Given the description of an element on the screen output the (x, y) to click on. 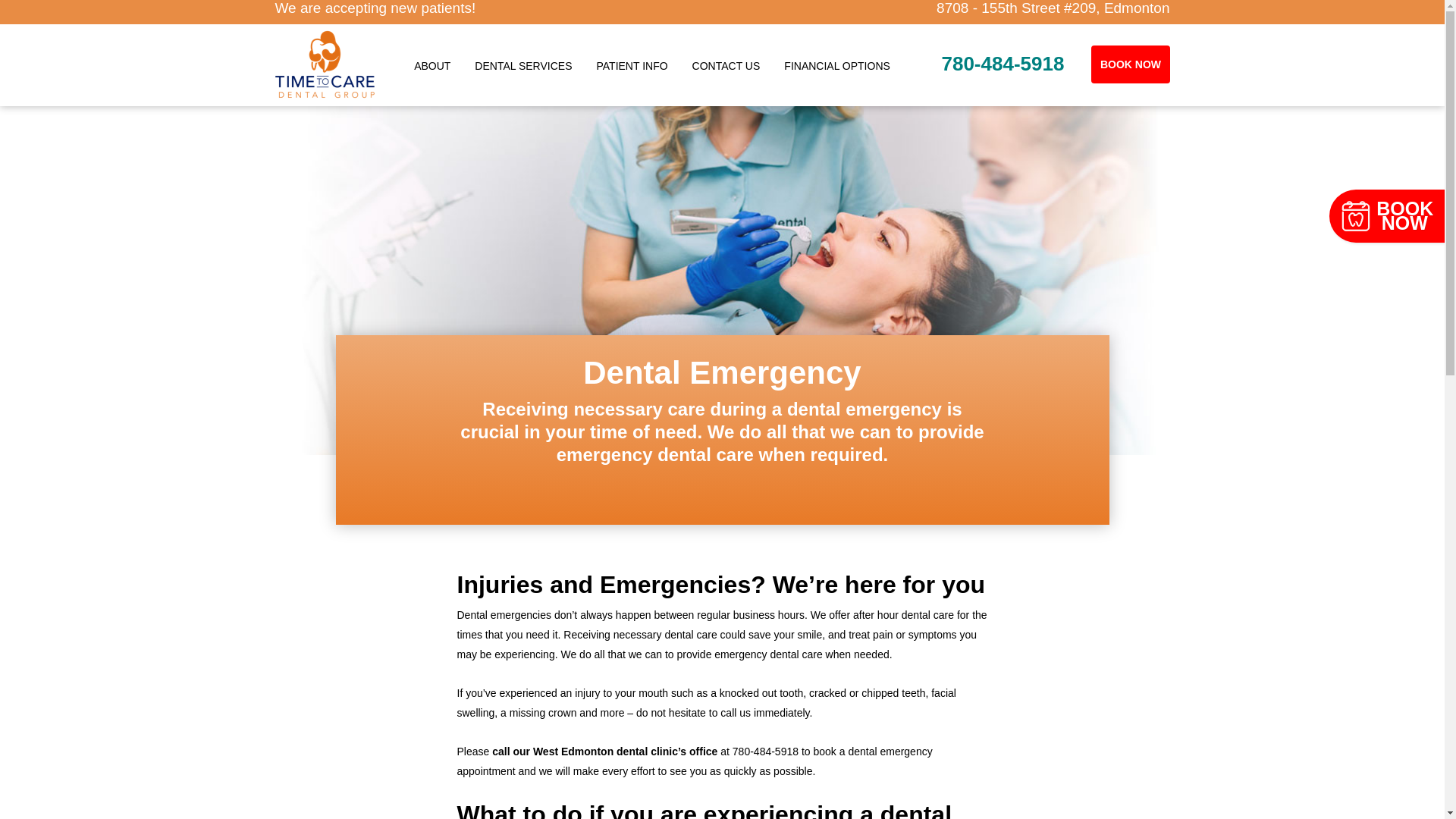
780-484-5918 (1001, 64)
FINANCIAL OPTIONS (836, 64)
ABOUT (432, 64)
CONTACT US (726, 64)
DENTAL SERVICES (523, 64)
BOOK NOW (1129, 64)
PATIENT INFO (631, 64)
